Given the description of an element on the screen output the (x, y) to click on. 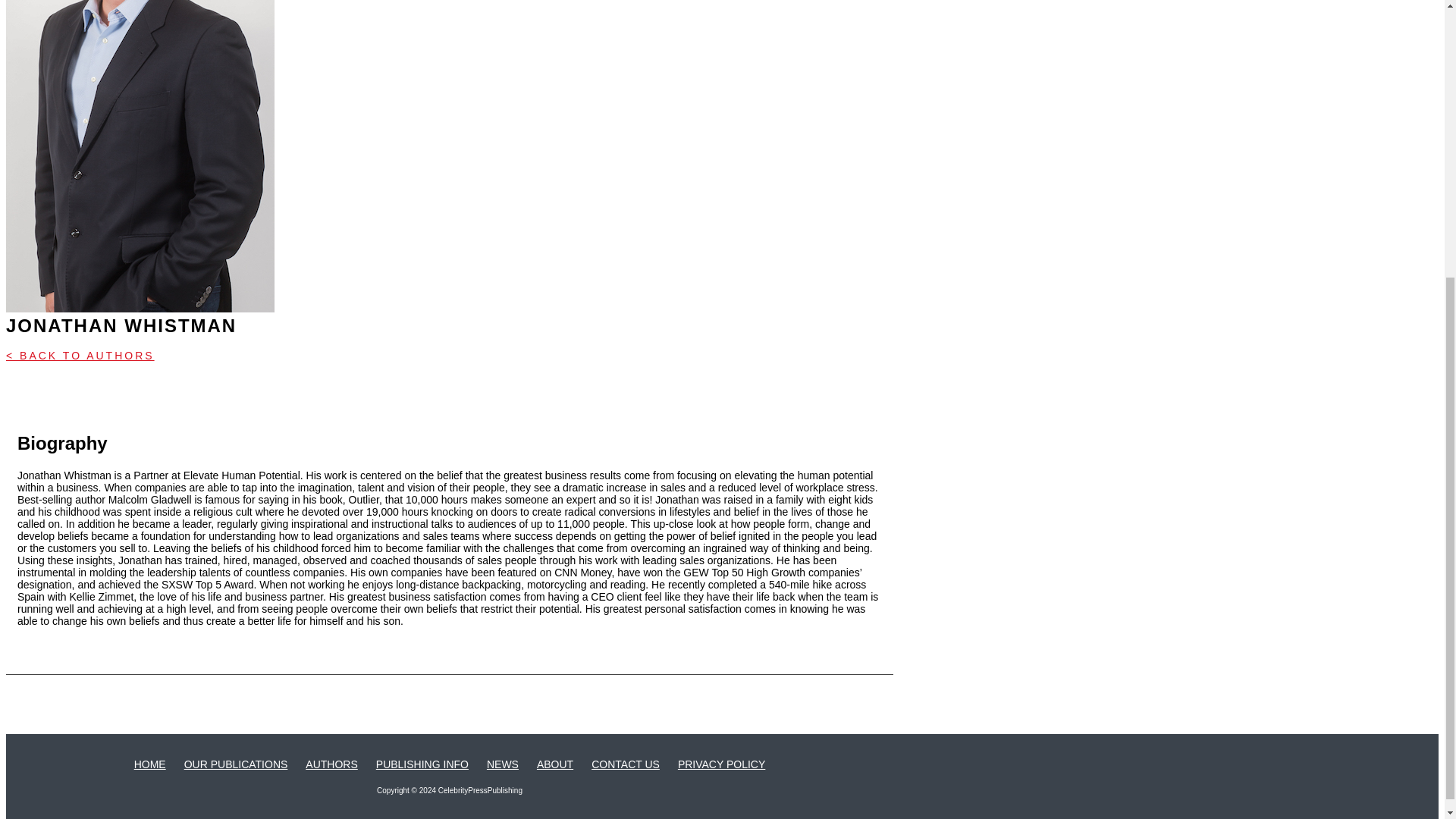
ABOUT (555, 764)
PRIVACY POLICY (721, 764)
OUR PUBLICATIONS (236, 764)
PUBLISHING INFO (421, 764)
HOME (149, 764)
NEWS (502, 764)
CONTACT US (625, 764)
AUTHORS (330, 764)
